Given the description of an element on the screen output the (x, y) to click on. 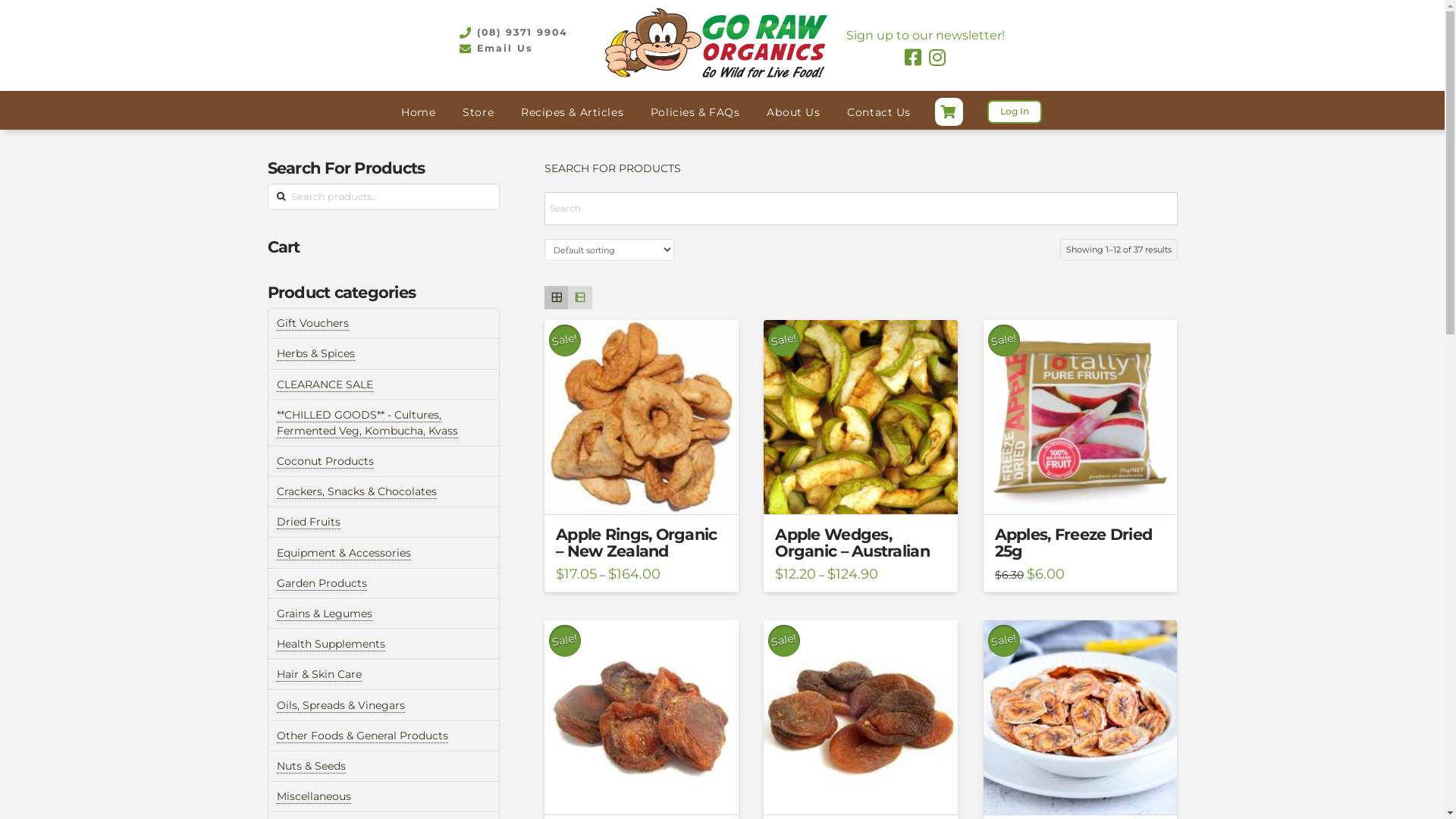
Grid view Element type: hover (555, 297)
Store Element type: text (477, 111)
Gift Vouchers Element type: text (312, 323)
Crackers, Snacks & Chocolates Element type: text (356, 491)
Equipment & Accessories Element type: text (343, 553)
Miscellaneous Element type: text (313, 796)
Hair & Skin Care Element type: text (318, 674)
Log In Element type: text (1014, 111)
About Us Element type: text (793, 111)
Garden Products Element type: text (321, 583)
**CHILLED GOODS** - Cultures, Fermented Veg, Kombucha, Kvass Element type: text (367, 422)
Sign up to our newsletter! Element type: text (925, 35)
Apples, Freeze Dried 25g Element type: text (1073, 542)
Email Us Element type: text (495, 48)
Herbs & Spices Element type: text (315, 353)
Health Supplements Element type: text (330, 644)
Dried Fruits Element type: text (308, 521)
(08) 9371 9904 Element type: text (512, 32)
Grains & Legumes Element type: text (324, 613)
CLEARANCE SALE Element type: text (324, 384)
Other Foods & General Products Element type: text (362, 735)
Home Element type: text (417, 111)
Search Element type: text (35, 17)
Oils, Spreads & Vinegars Element type: text (340, 705)
Coconut Products Element type: text (324, 461)
Contact Us Element type: text (878, 111)
Policies & FAQs Element type: text (695, 111)
Recipes & Articles Element type: text (572, 111)
List view Element type: hover (579, 297)
Nuts & Seeds Element type: text (310, 766)
